Given the description of an element on the screen output the (x, y) to click on. 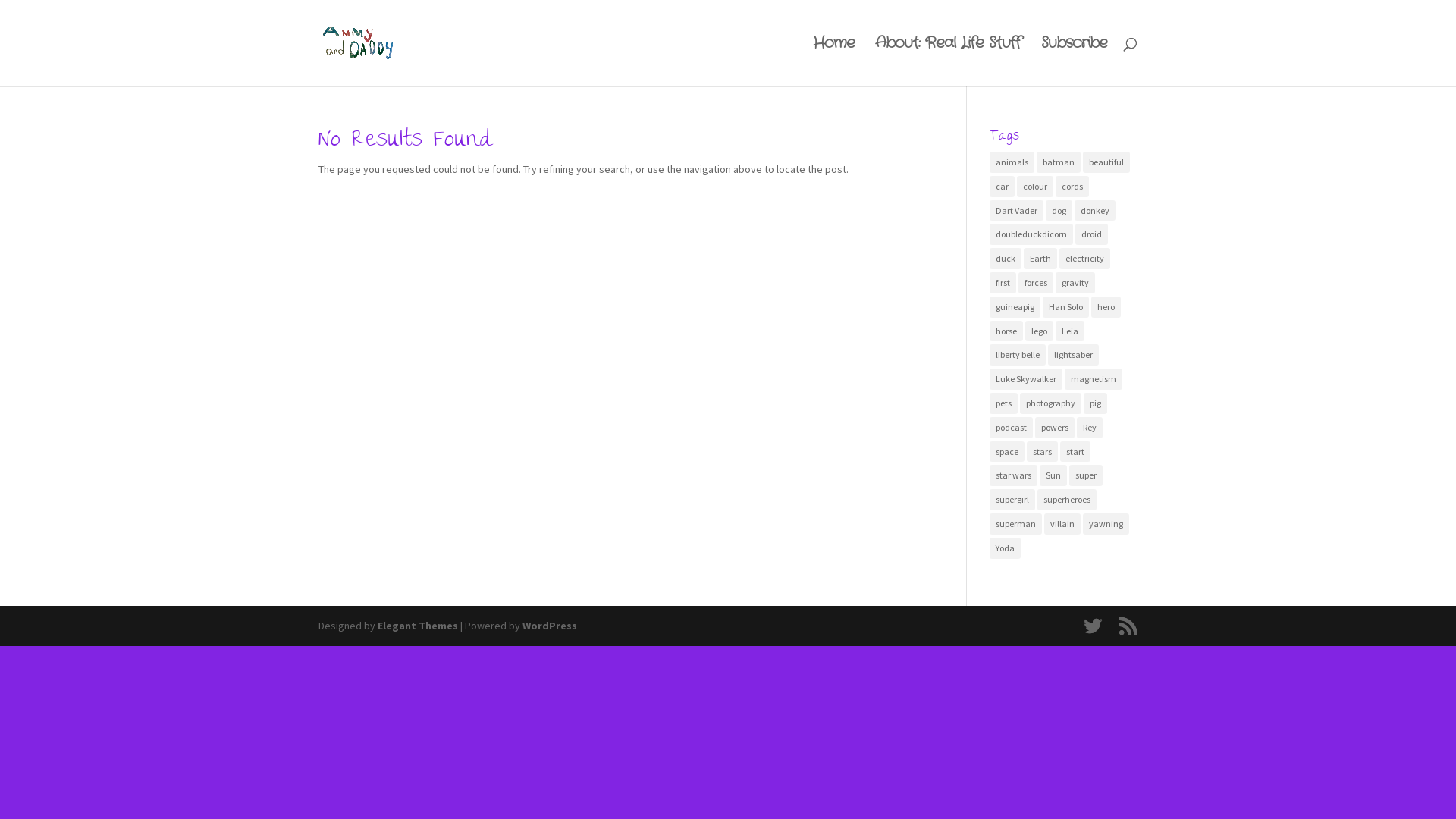
beautiful Element type: text (1105, 161)
cords Element type: text (1071, 186)
pig Element type: text (1095, 403)
donkey Element type: text (1094, 210)
animals Element type: text (1011, 161)
first Element type: text (1002, 282)
Subscribe Element type: text (1074, 61)
WordPress Element type: text (549, 625)
start Element type: text (1075, 451)
Han Solo Element type: text (1065, 306)
doubleduckdicorn Element type: text (1031, 233)
Rey Element type: text (1089, 427)
Earth Element type: text (1040, 258)
Dart Vader Element type: text (1016, 210)
villain Element type: text (1062, 523)
Elegant Themes Element type: text (417, 625)
Luke Skywalker Element type: text (1025, 378)
dog Element type: text (1058, 210)
hero Element type: text (1105, 306)
Yoda Element type: text (1004, 547)
colour Element type: text (1034, 186)
magnetism Element type: text (1093, 378)
pets Element type: text (1003, 403)
podcast Element type: text (1010, 427)
lego Element type: text (1039, 331)
Leia Element type: text (1069, 331)
forces Element type: text (1035, 282)
photography Element type: text (1050, 403)
batman Element type: text (1058, 161)
gravity Element type: text (1075, 282)
guineapig Element type: text (1014, 306)
powers Element type: text (1054, 427)
duck Element type: text (1005, 258)
car Element type: text (1001, 186)
stars Element type: text (1041, 451)
yawning Element type: text (1105, 523)
lightsaber Element type: text (1073, 354)
superheroes Element type: text (1066, 499)
superman Element type: text (1015, 523)
droid Element type: text (1091, 233)
About: Real Life Stuff Element type: text (947, 61)
Home Element type: text (833, 61)
Sun Element type: text (1052, 475)
star wars Element type: text (1013, 475)
electricity Element type: text (1084, 258)
space Element type: text (1006, 451)
super Element type: text (1085, 475)
horse Element type: text (1005, 331)
liberty belle Element type: text (1017, 354)
supergirl Element type: text (1012, 499)
